Given the description of an element on the screen output the (x, y) to click on. 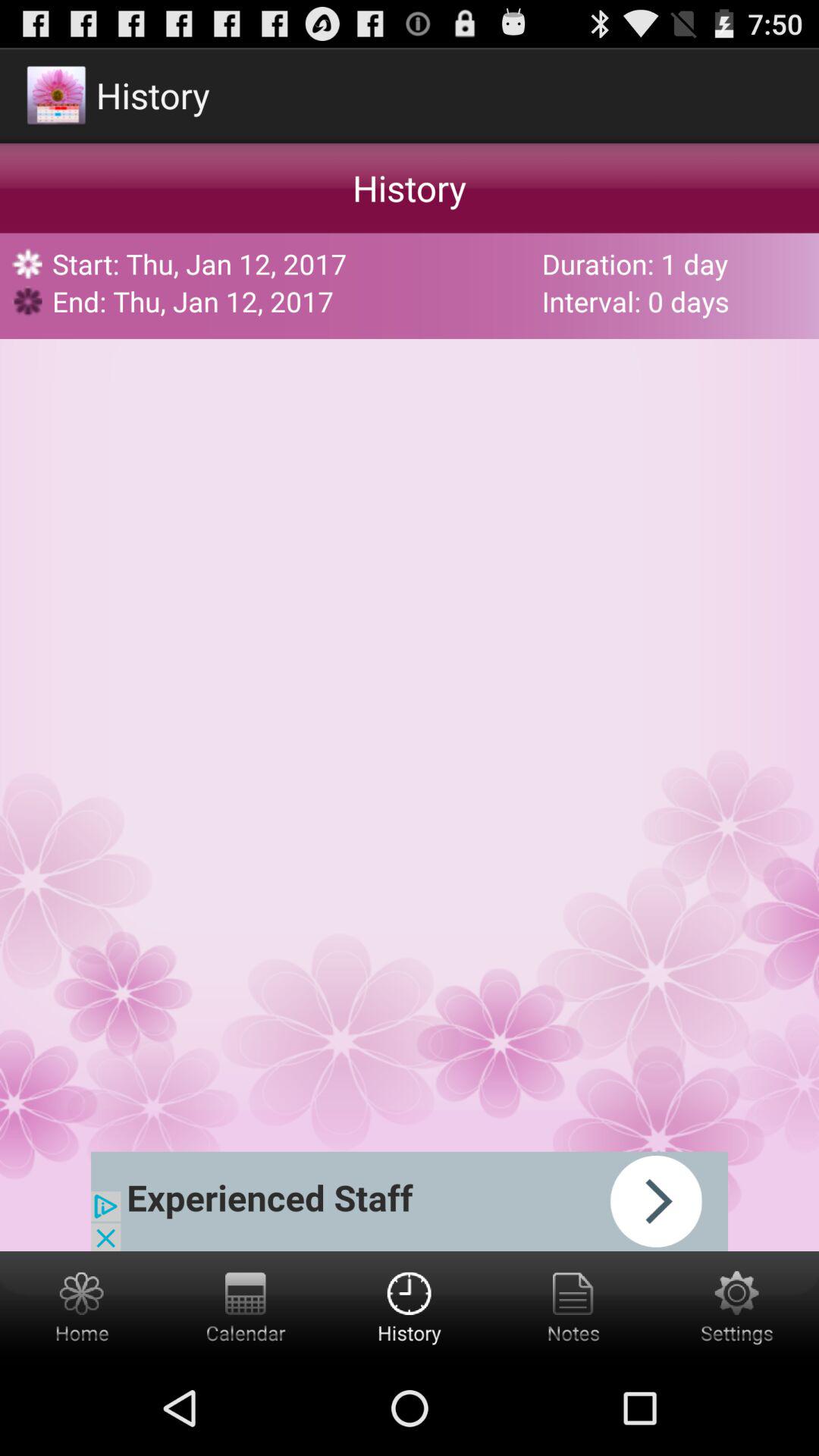
calendar (245, 1305)
